Given the description of an element on the screen output the (x, y) to click on. 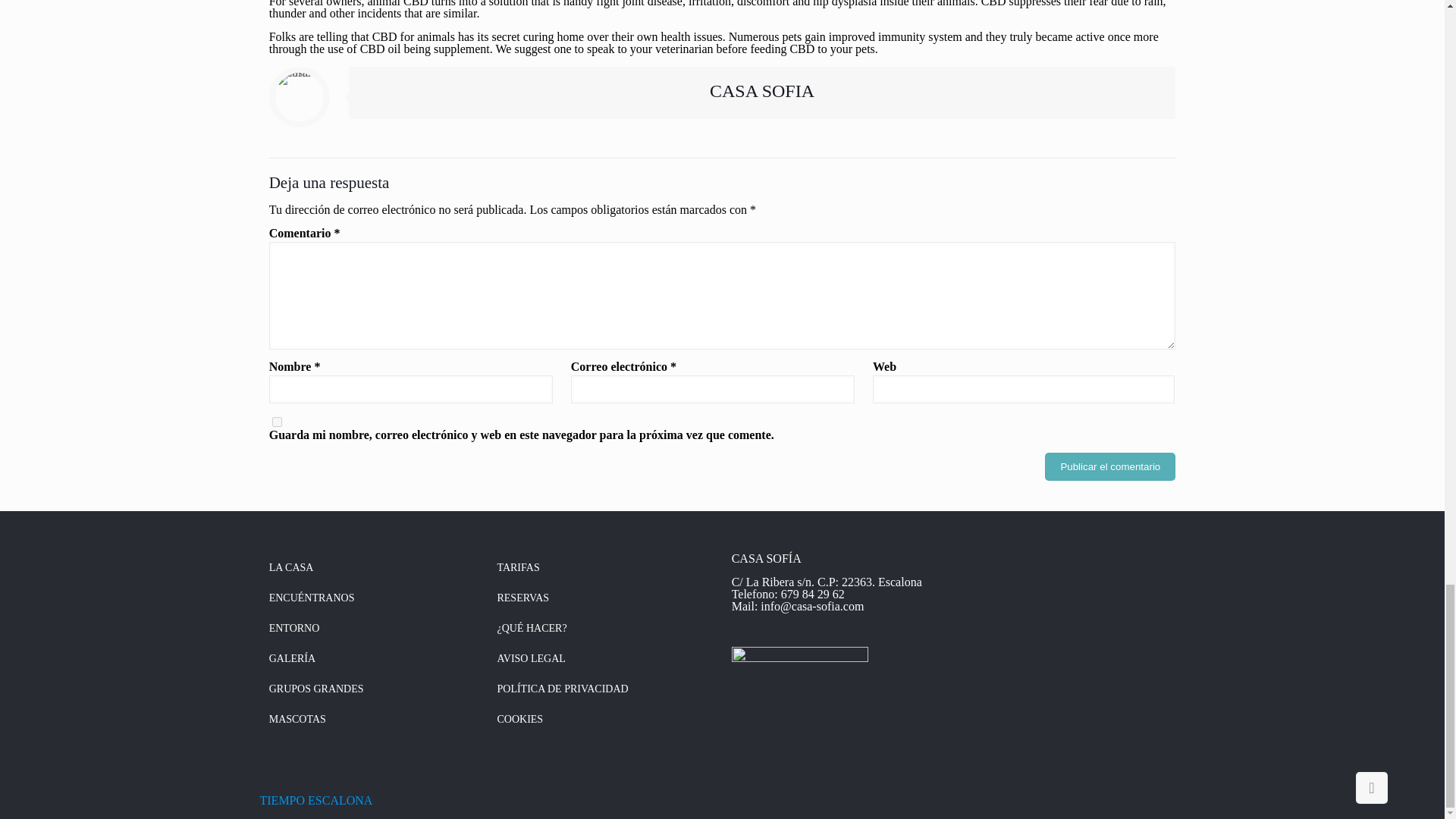
TARIFAS (604, 567)
yes (277, 421)
RESERVAS (604, 598)
LA CASA (376, 567)
ENTORNO (376, 628)
Publicar el comentario (1109, 466)
COOKIES (604, 719)
MASCOTAS (376, 719)
CASA SOFIA (761, 90)
GRUPOS GRANDES (376, 689)
